Given the description of an element on the screen output the (x, y) to click on. 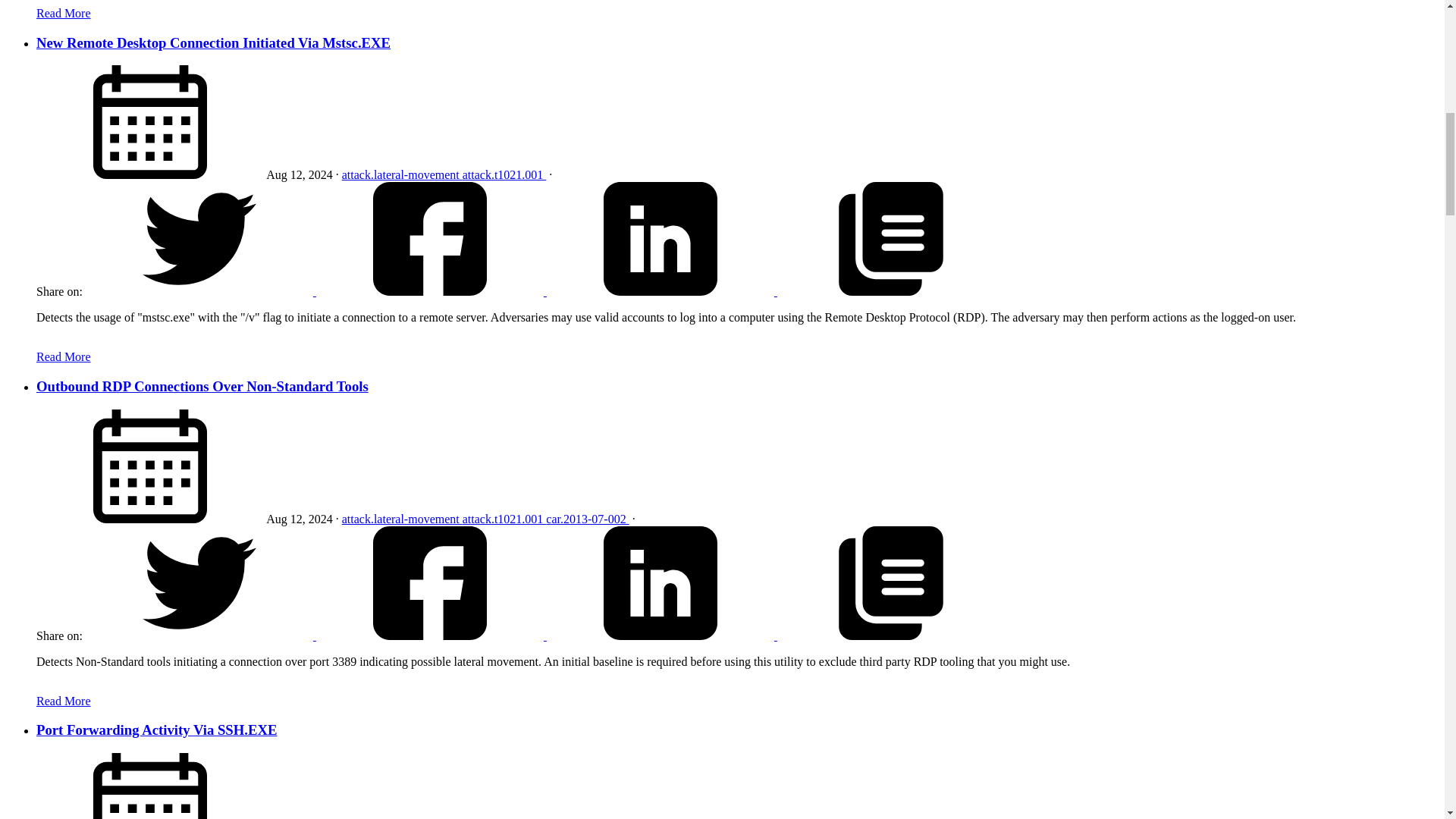
calendar (149, 466)
copy (890, 291)
copy (890, 238)
linkedin (660, 238)
facebook (431, 291)
copy (890, 635)
Outbound RDP Connections Over Non-Standard Tools (202, 385)
twitter (200, 635)
calendar (149, 122)
New Remote Desktop Connection Initiated Via Mstsc.EXE (213, 42)
